Given the description of an element on the screen output the (x, y) to click on. 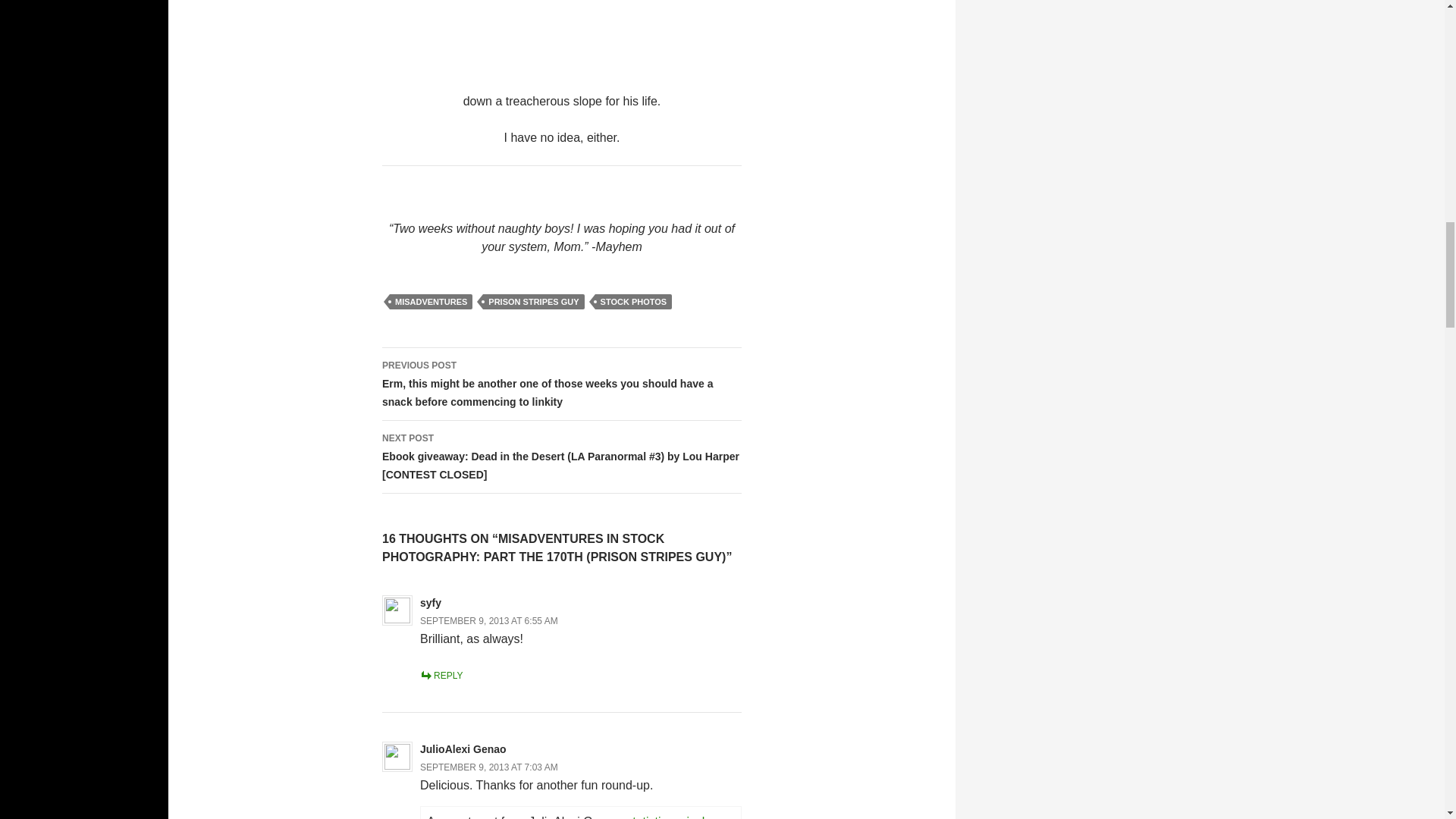
MISADVENTURES (430, 301)
PRISON STRIPES GUY (533, 301)
STOCK PHOTOS (633, 301)
REPLY (441, 675)
SEPTEMBER 9, 2013 AT 7:03 AM (488, 767)
JulioAlexi Genao (463, 748)
statistics: pixels after seven days. (568, 816)
SEPTEMBER 9, 2013 AT 6:55 AM (488, 620)
